Given the description of an element on the screen output the (x, y) to click on. 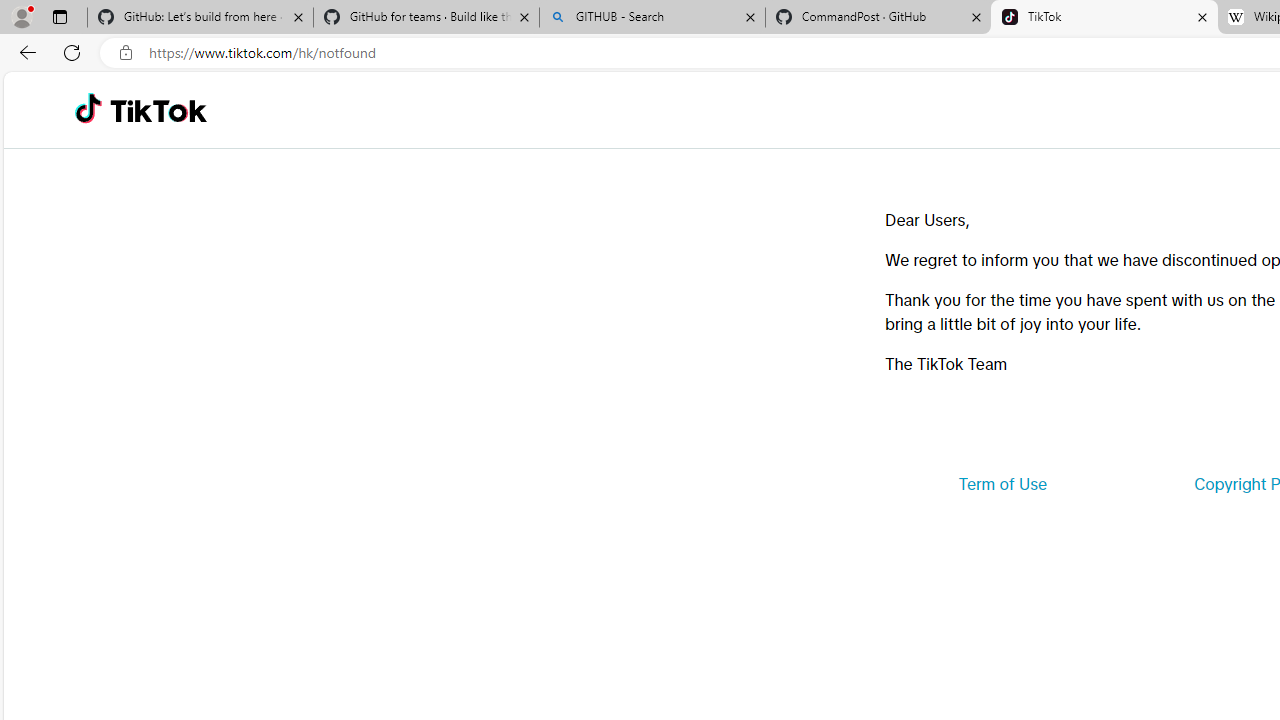
Term of Use (1002, 484)
TikTok (158, 110)
TikTok (1104, 17)
GITHUB - Search (652, 17)
